Given the description of an element on the screen output the (x, y) to click on. 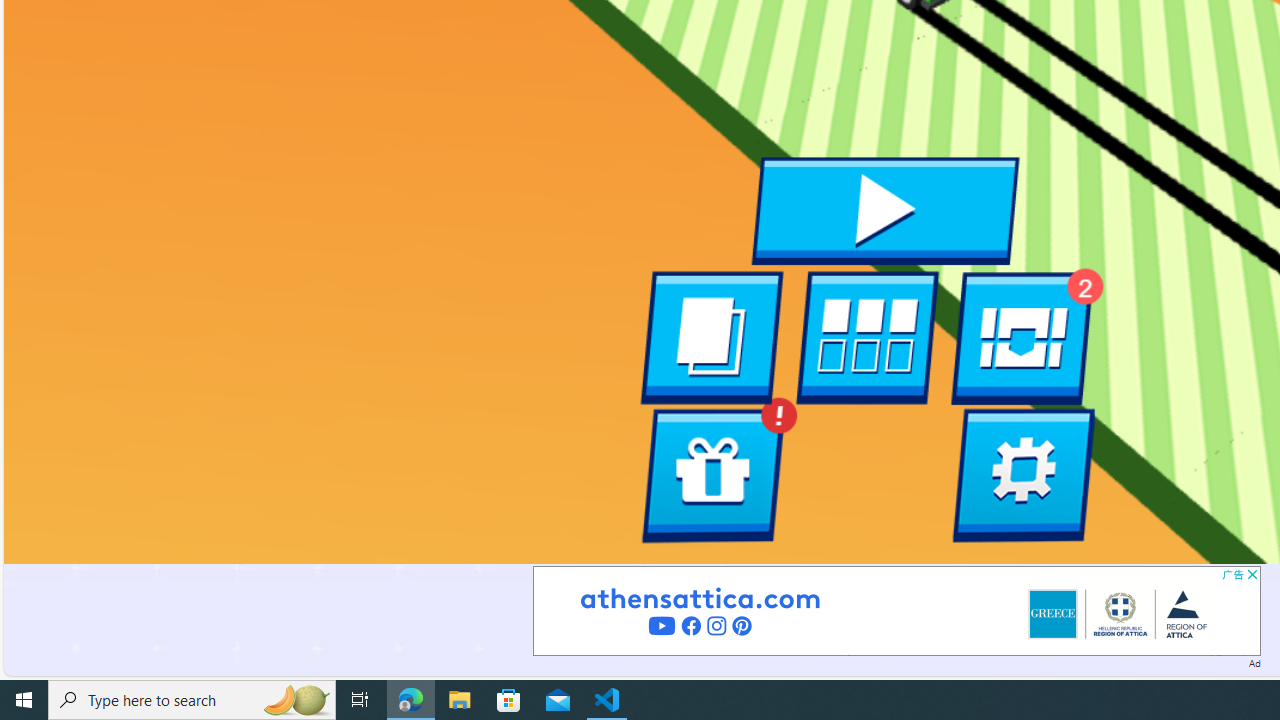
Advertisement (896, 610)
Advertisement (896, 610)
AutomationID: cbb (1252, 574)
Ad (1254, 661)
